Given the description of an element on the screen output the (x, y) to click on. 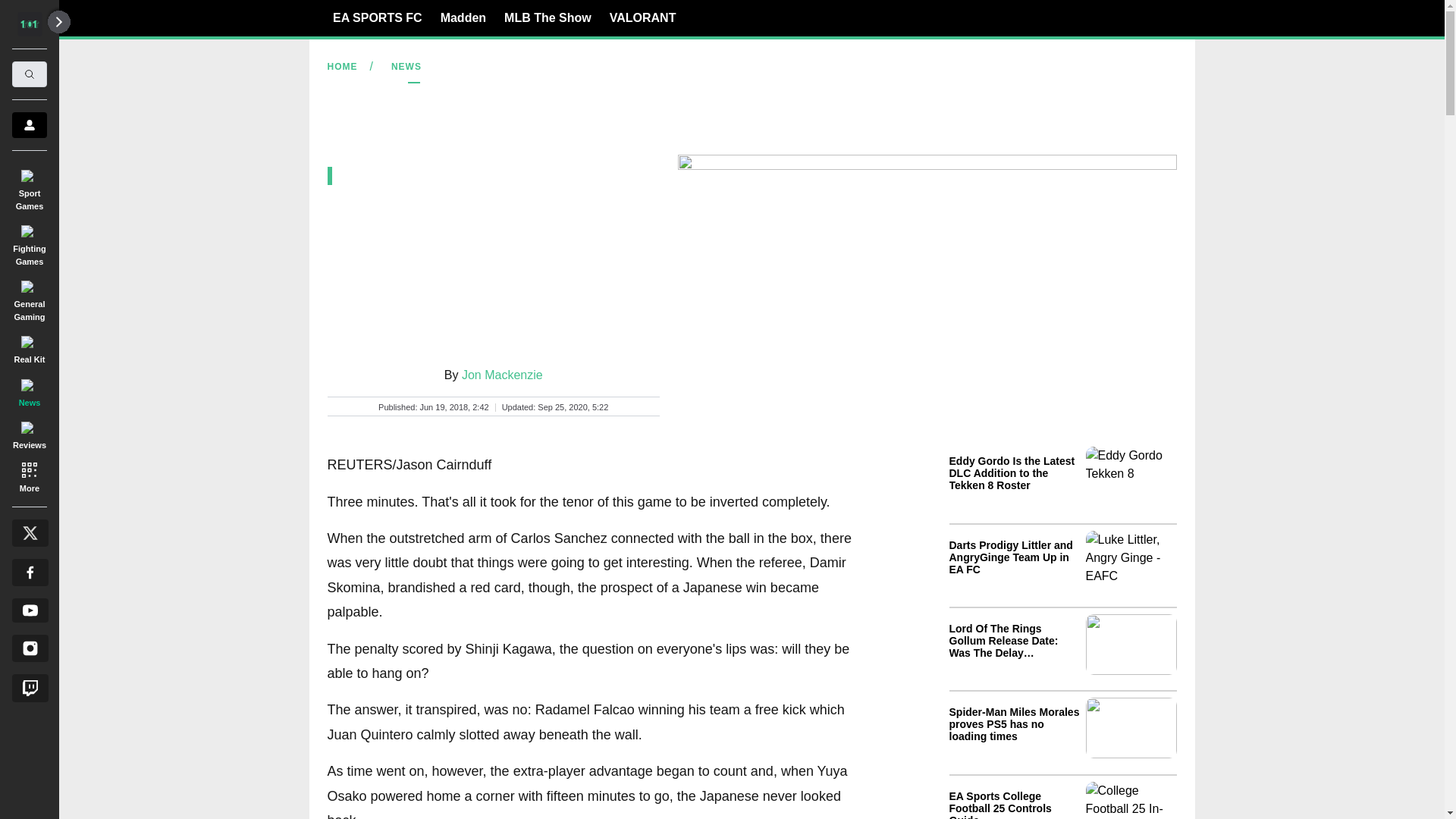
Real Kit (28, 347)
MLB The Show (547, 18)
VALORANT (643, 18)
Reviews (28, 433)
More (28, 476)
EA SPORTS FC (377, 18)
News (28, 389)
Madden (463, 18)
